Given the description of an element on the screen output the (x, y) to click on. 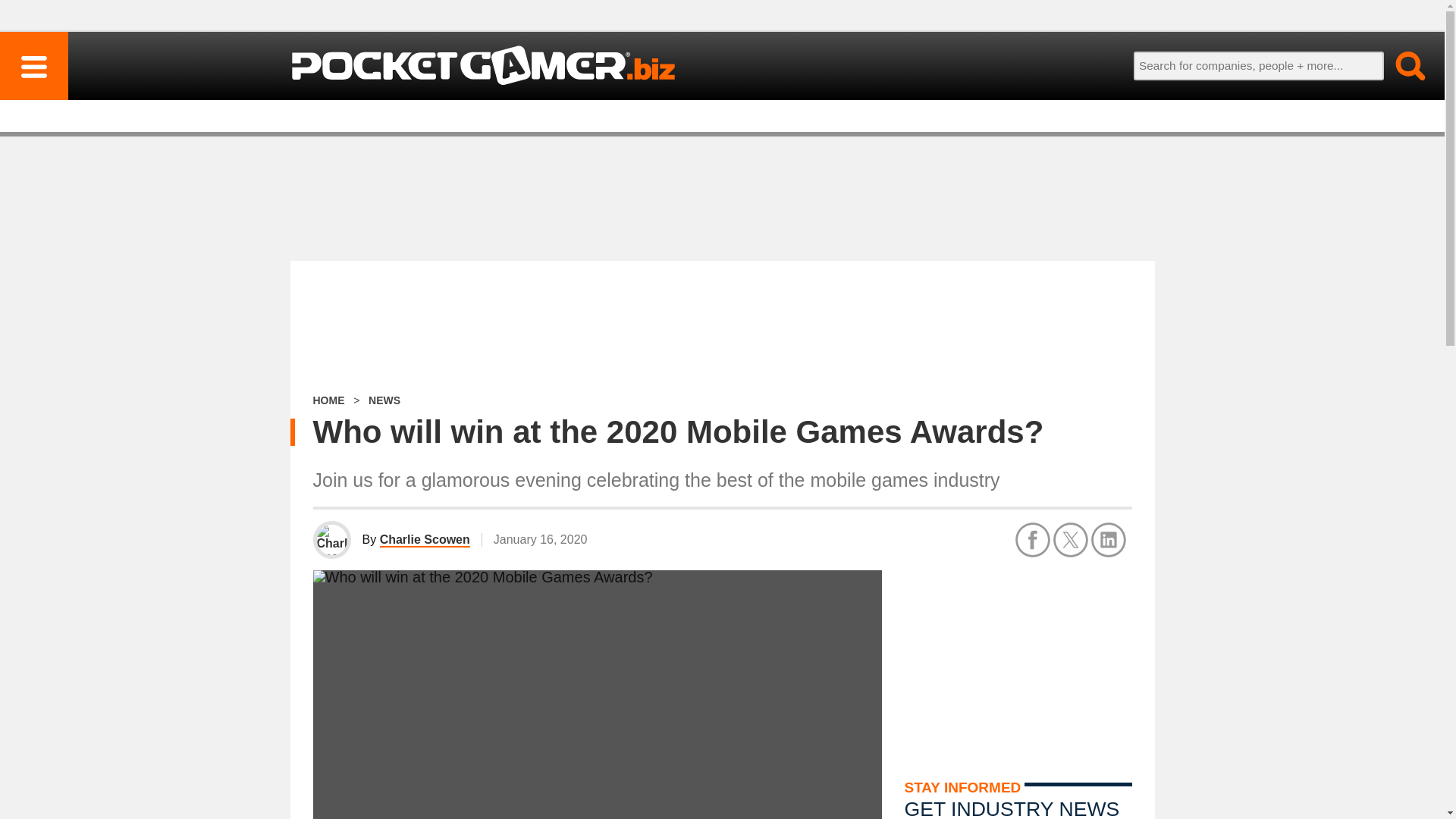
HOME (328, 400)
Go (1402, 65)
Go (1402, 65)
NEWS (384, 400)
Charlie Scowen (425, 540)
